Given the description of an element on the screen output the (x, y) to click on. 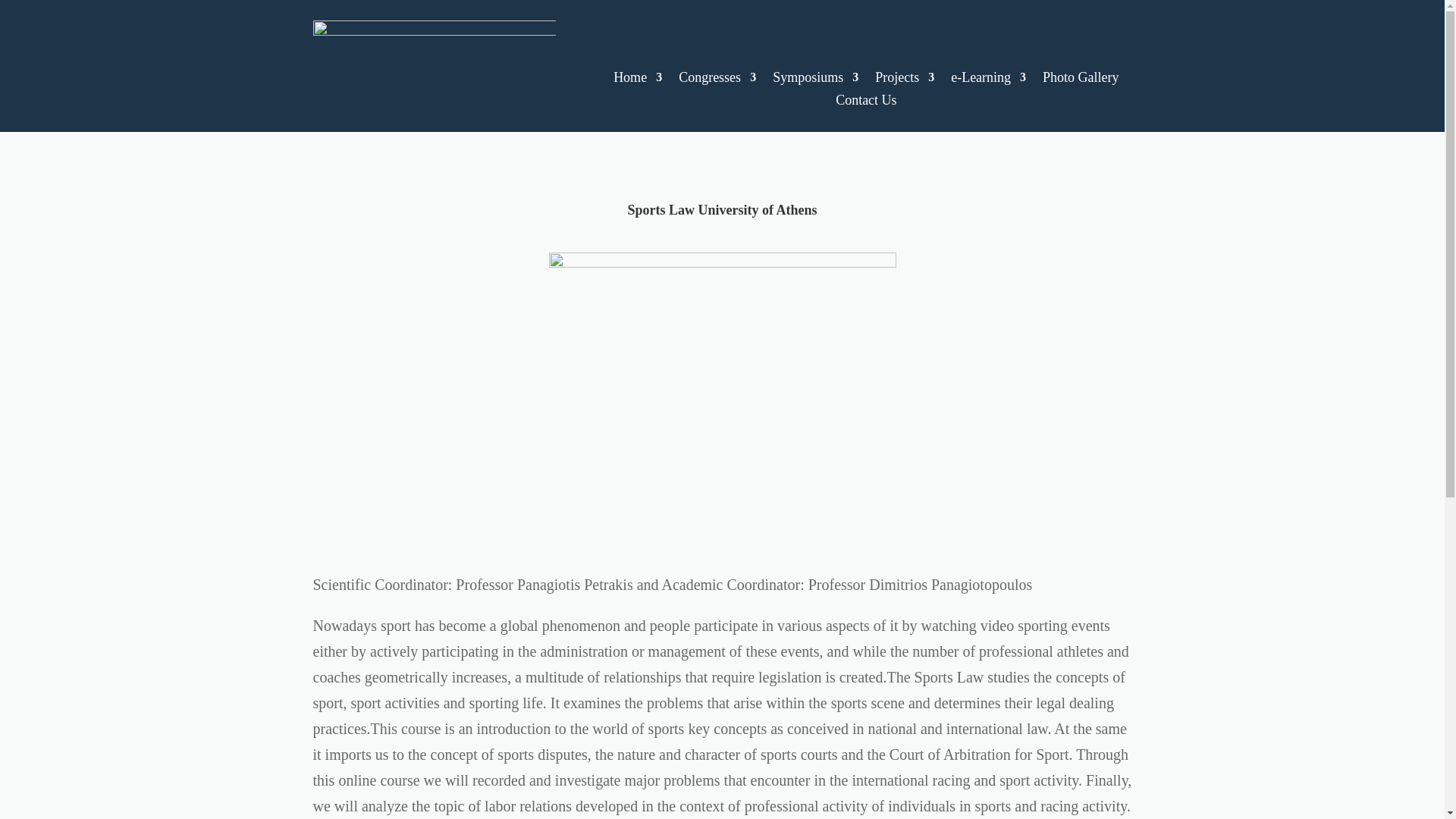
Congresses (716, 80)
Home (637, 80)
